Given the description of an element on the screen output the (x, y) to click on. 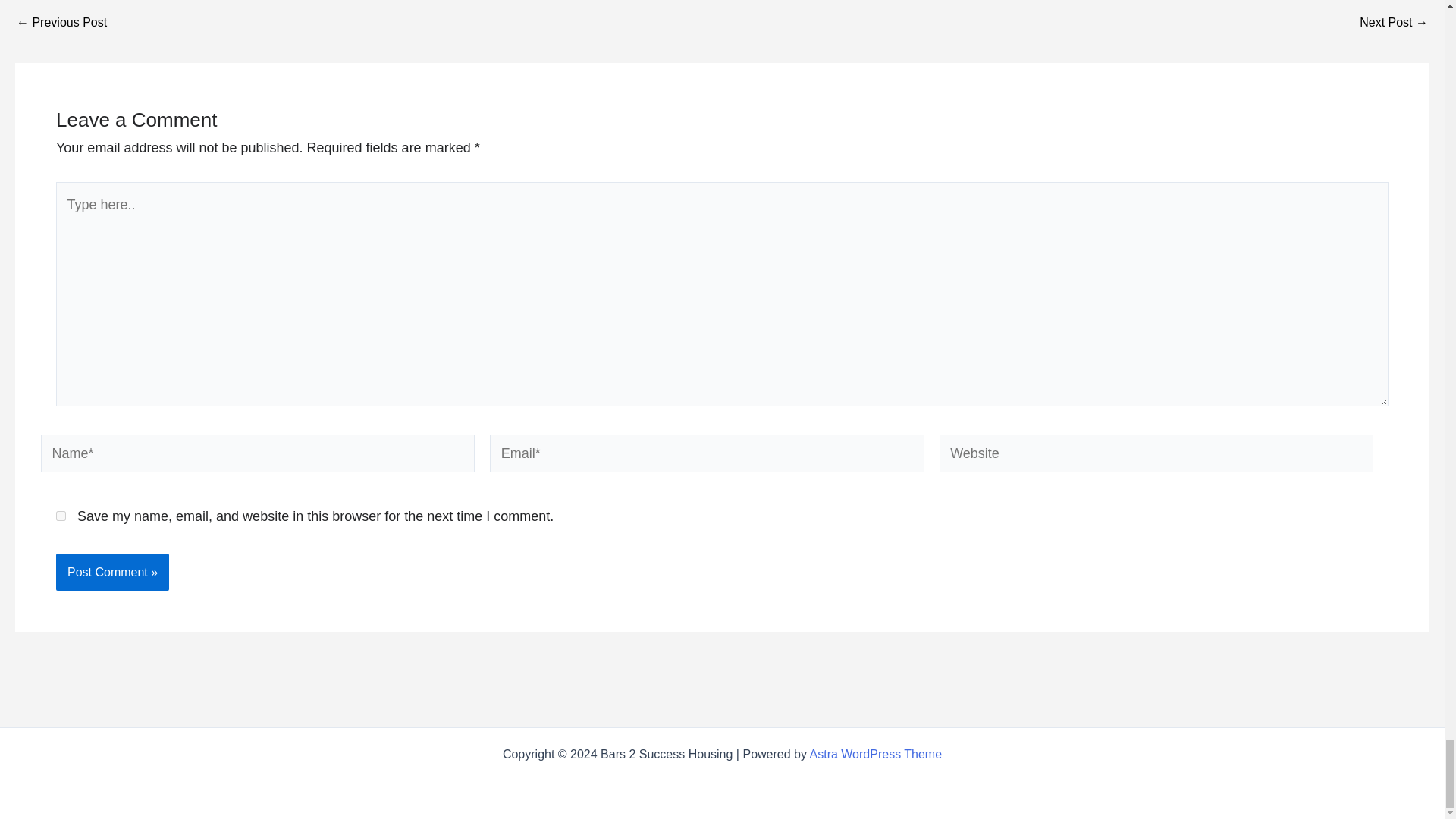
yes (60, 515)
Astra WordPress Theme (875, 753)
